Given the description of an element on the screen output the (x, y) to click on. 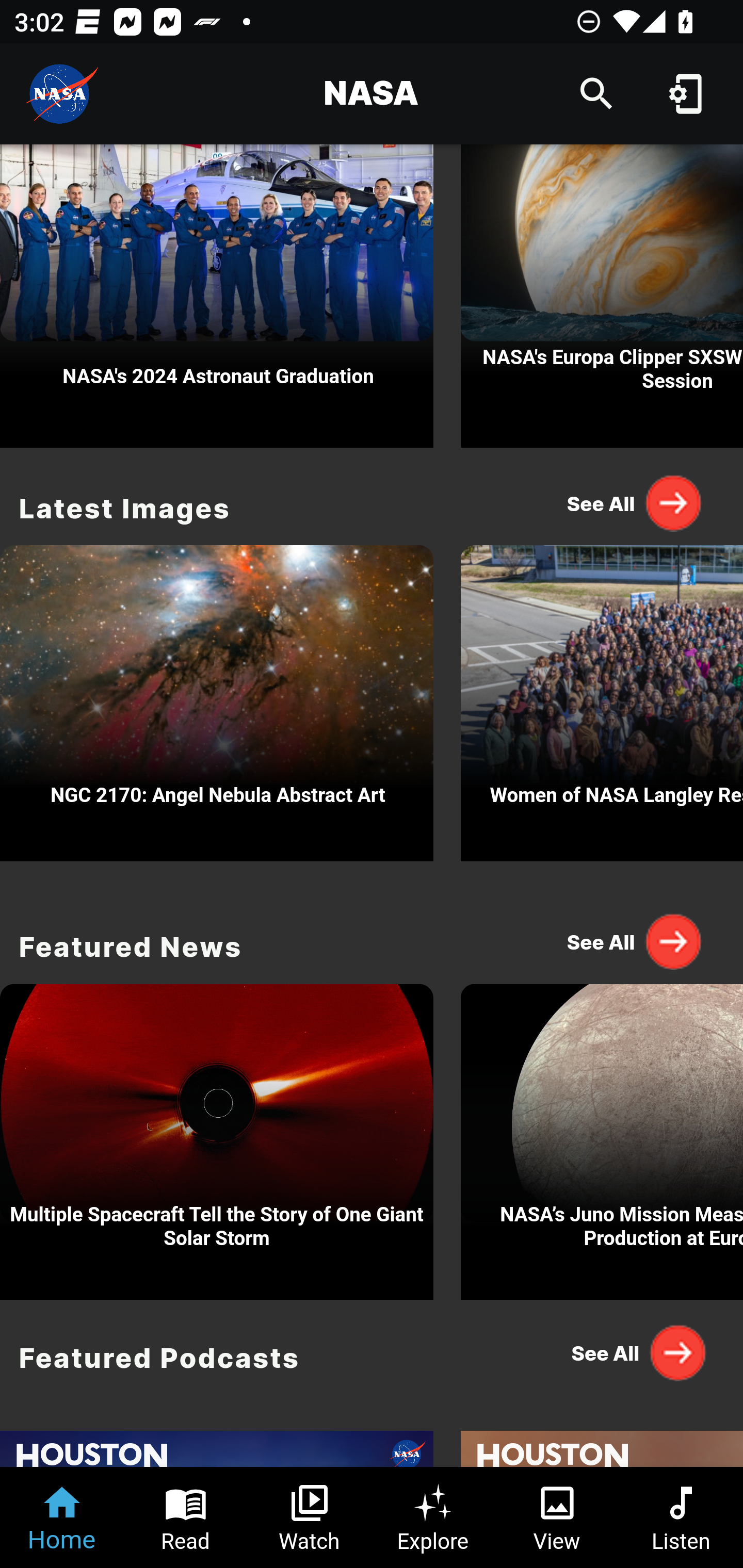
NASA's 2024 Astronaut Graduation (216, 296)
NASA's Europa Clipper SXSW 2024 Opening Session (601, 296)
See All (634, 502)
NGC 2170: Angel Nebula Abstract Art (216, 698)
Women of NASA Langley Research Center (601, 698)
See All (634, 941)
See All (634, 1353)
Home
Tab 1 of 6 (62, 1517)
Read
Tab 2 of 6 (185, 1517)
Watch
Tab 3 of 6 (309, 1517)
Explore
Tab 4 of 6 (433, 1517)
View
Tab 5 of 6 (556, 1517)
Listen
Tab 6 of 6 (680, 1517)
